Given the description of an element on the screen output the (x, y) to click on. 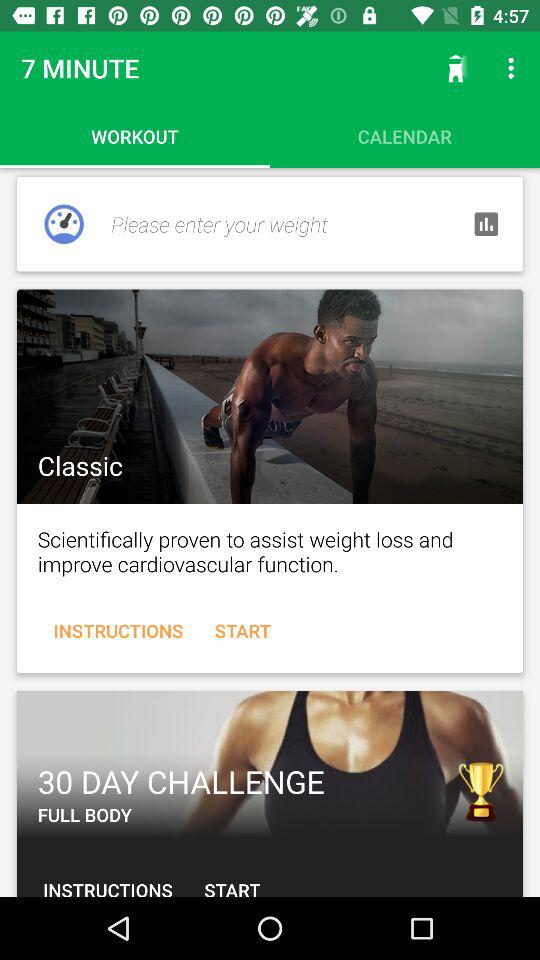
select workout (269, 396)
